Given the description of an element on the screen output the (x, y) to click on. 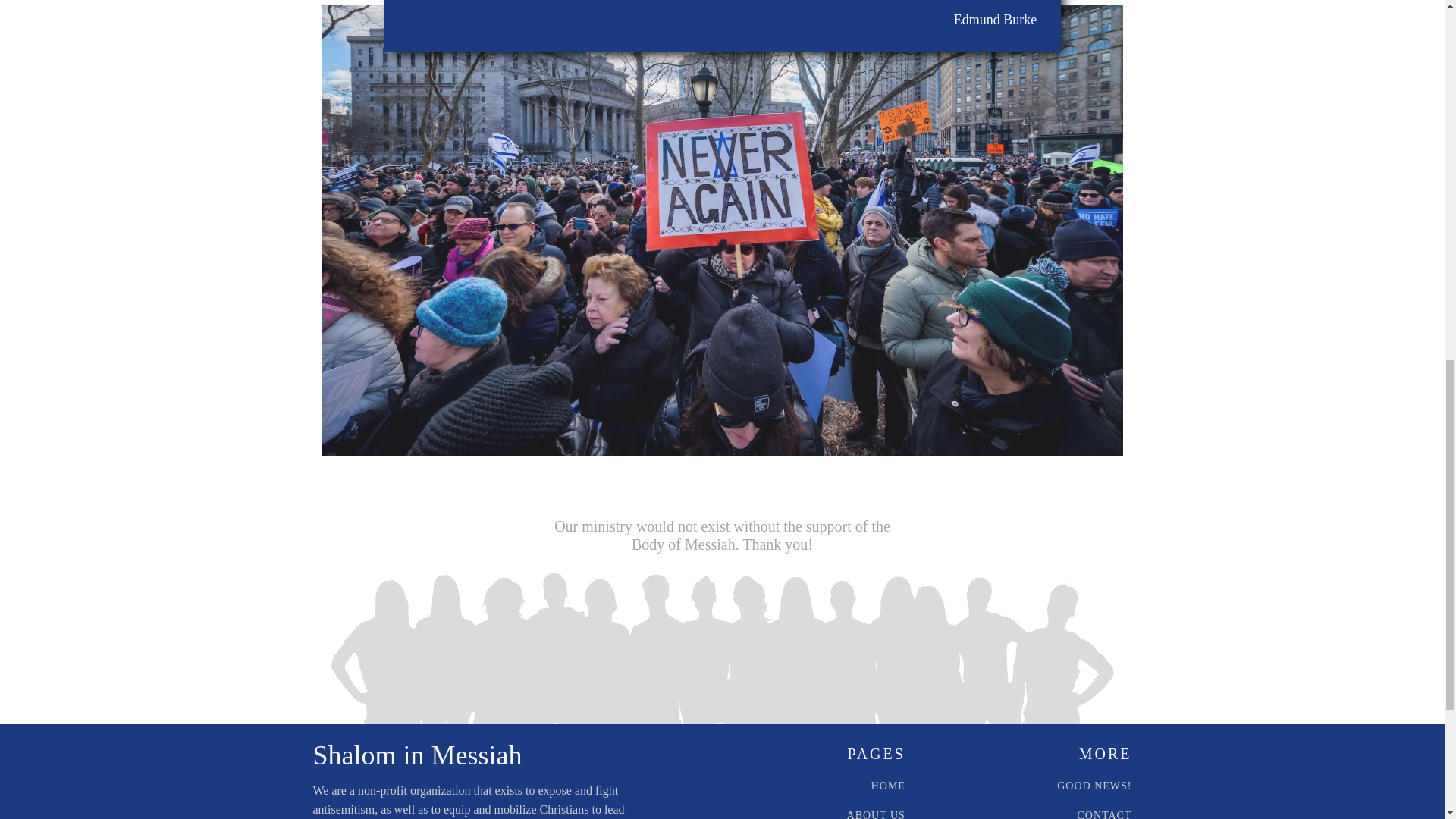
GOOD NEWS! (1094, 785)
Shalom in Messiah (417, 755)
ABOUT US (876, 814)
CONTACT (1104, 814)
HOME (887, 785)
